Given the description of an element on the screen output the (x, y) to click on. 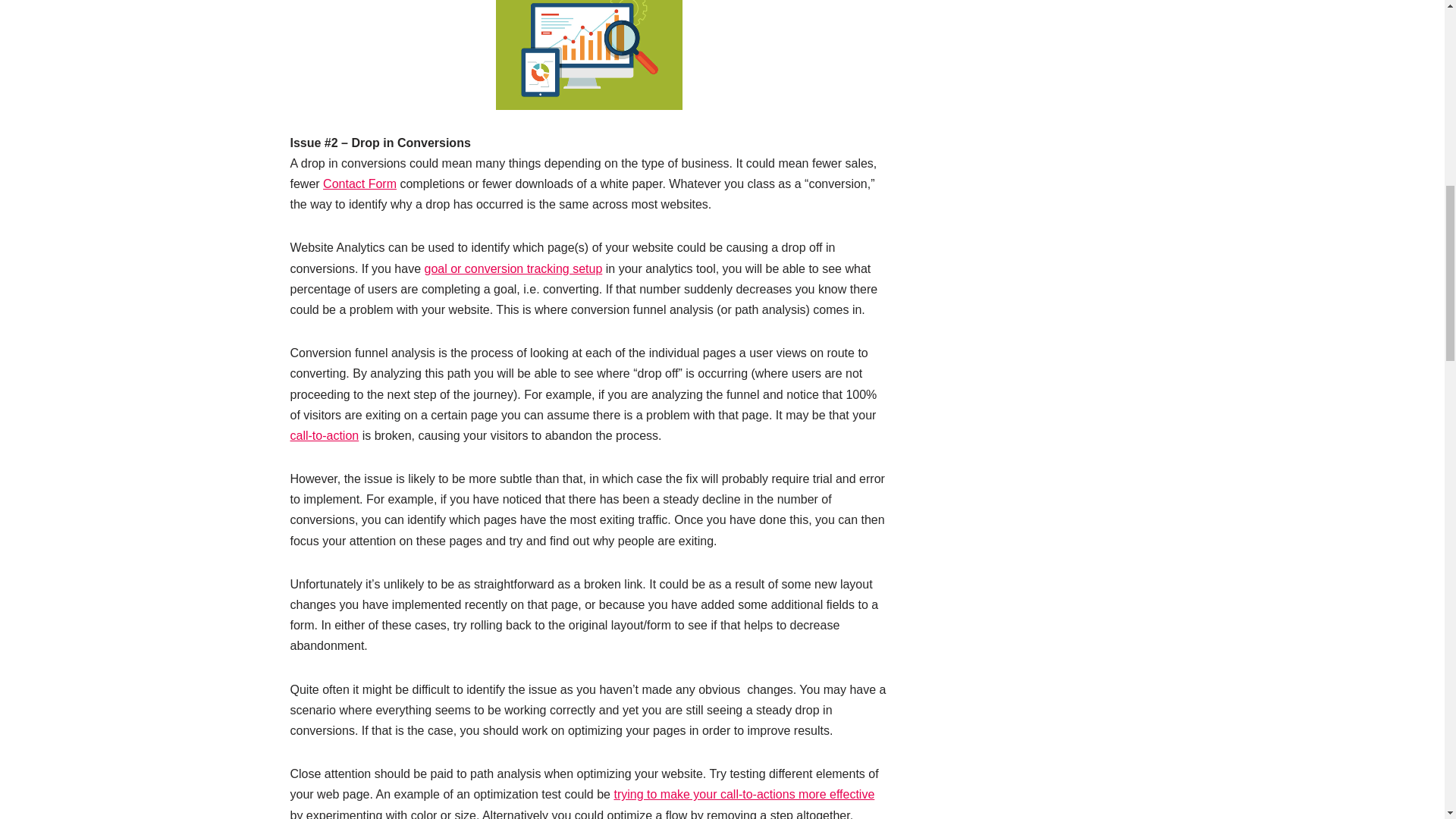
trying to make your call-to-actions more effective (743, 793)
Contact Form (359, 183)
Search Engine Journal (512, 268)
How to Create Effective CTAs (743, 793)
Improving your contact page and form (359, 183)
call-to-action (323, 435)
goal or conversion tracking setup (512, 268)
